Given the description of an element on the screen output the (x, y) to click on. 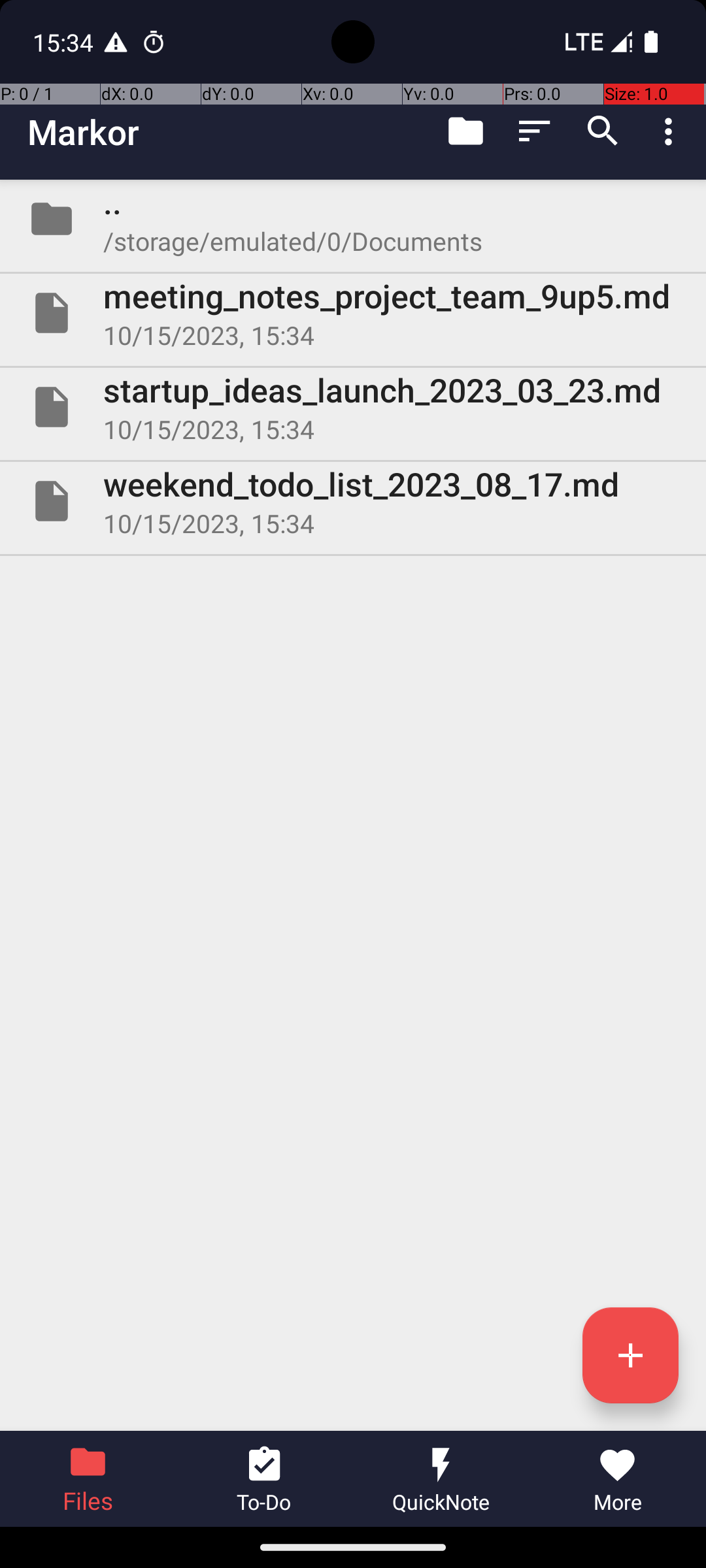
Folder .. /storage Element type: android.widget.LinearLayout (353, 218)
File meeting_notes_project_team_9up5.md 9/10/2024, 03:57 Element type: android.widget.LinearLayout (353, 312)
File startup_ideas_launch_2023_03_23.md 10/15/2023, 15:34 Element type: android.widget.LinearLayout (353, 406)
File weekend_todo_list_2023_08_17.md 9/9/2024, 09:25 Element type: android.widget.LinearLayout (353, 500)
